Given the description of an element on the screen output the (x, y) to click on. 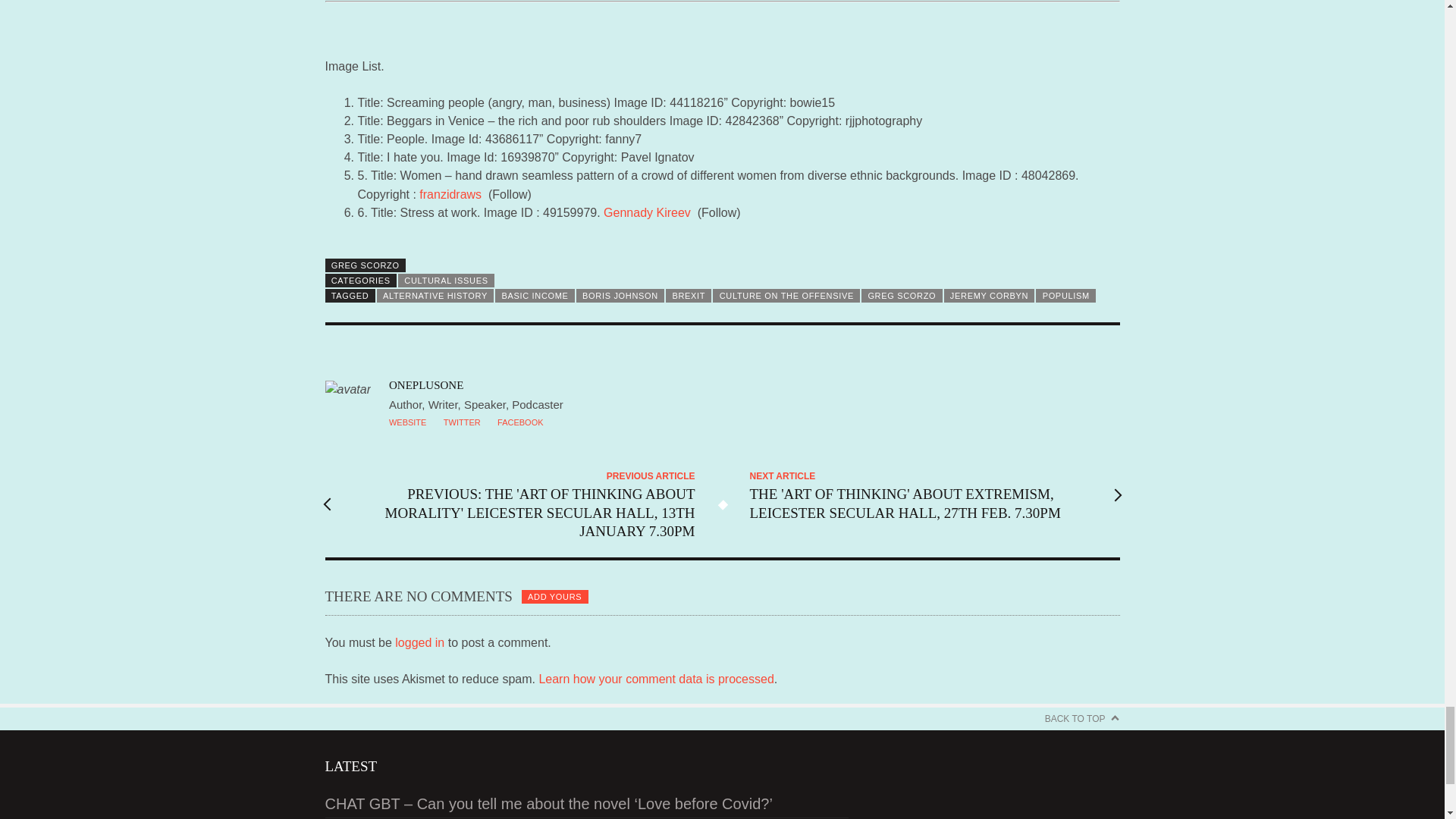
View all posts in CULTURAL ISSUES (446, 280)
View all posts tagged culture on the offensive (786, 295)
BASIC INCOME (535, 295)
CULTURE ON THE OFFENSIVE (786, 295)
BORIS JOHNSON (619, 295)
View all posts tagged Populism (1065, 295)
Gennady Kireev (647, 212)
View all posts tagged Basic Income (535, 295)
View all posts tagged Greg Scorzo (901, 295)
View all posts tagged Boris Johnson (619, 295)
